Given the description of an element on the screen output the (x, y) to click on. 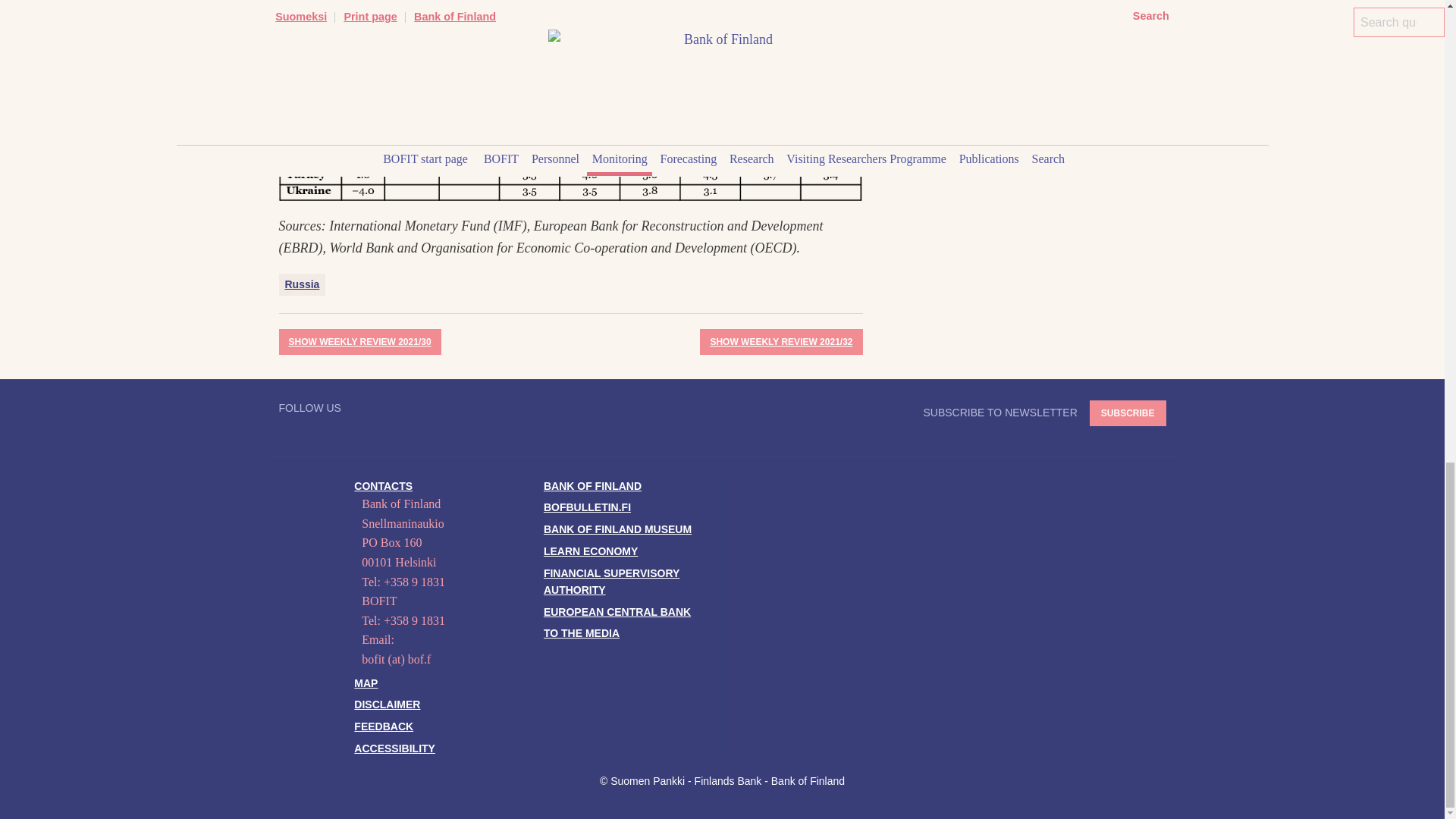
Map (365, 683)
Accessibility (394, 748)
Financial Supervisory Authority (611, 581)
bofbulletin.fi (586, 507)
Bank of Finland museum (617, 529)
Open keyword search using term Russia (302, 284)
Contacts (382, 485)
European Central Bank (616, 612)
